Given the description of an element on the screen output the (x, y) to click on. 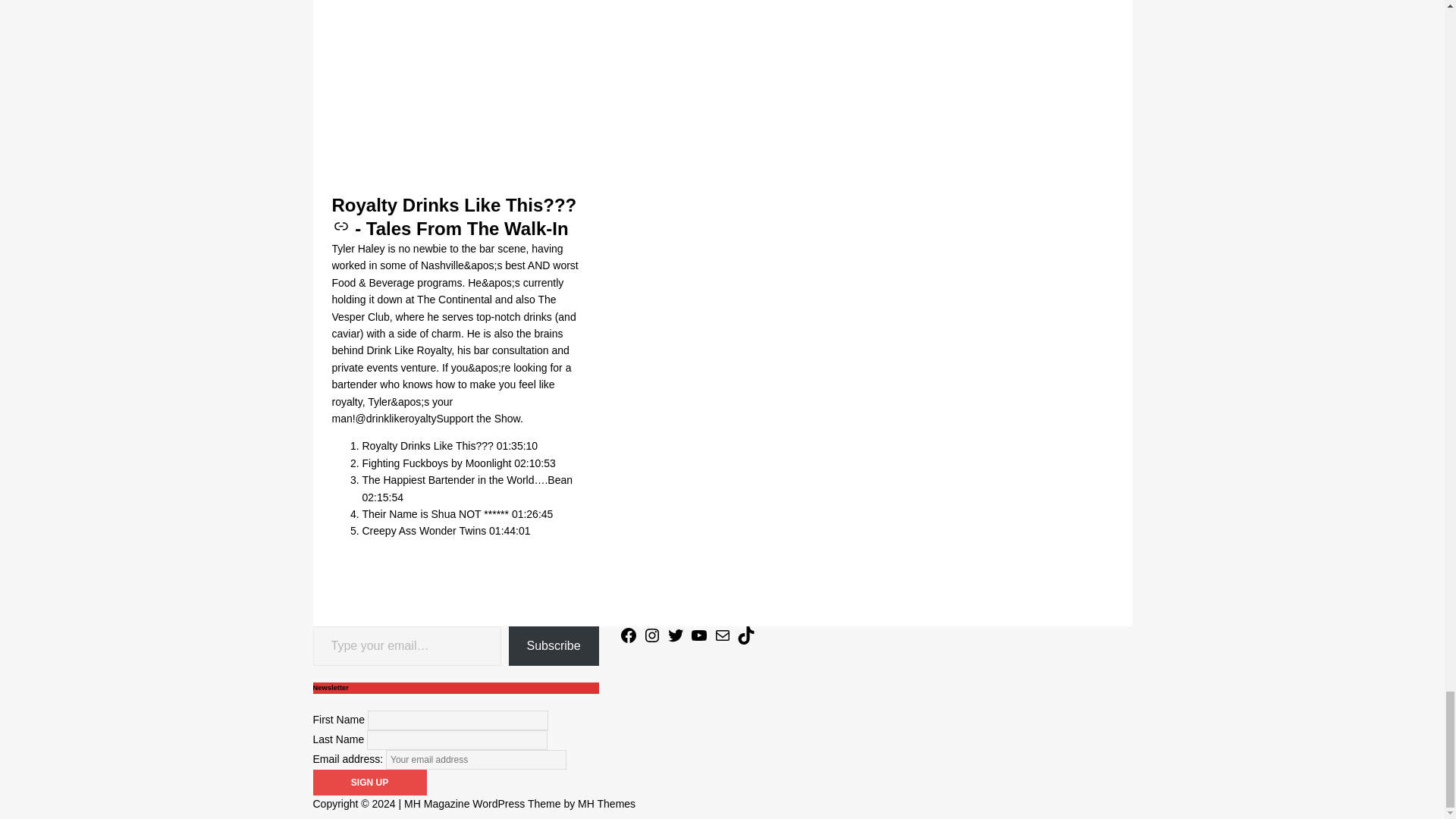
Sign up (369, 782)
